Given the description of an element on the screen output the (x, y) to click on. 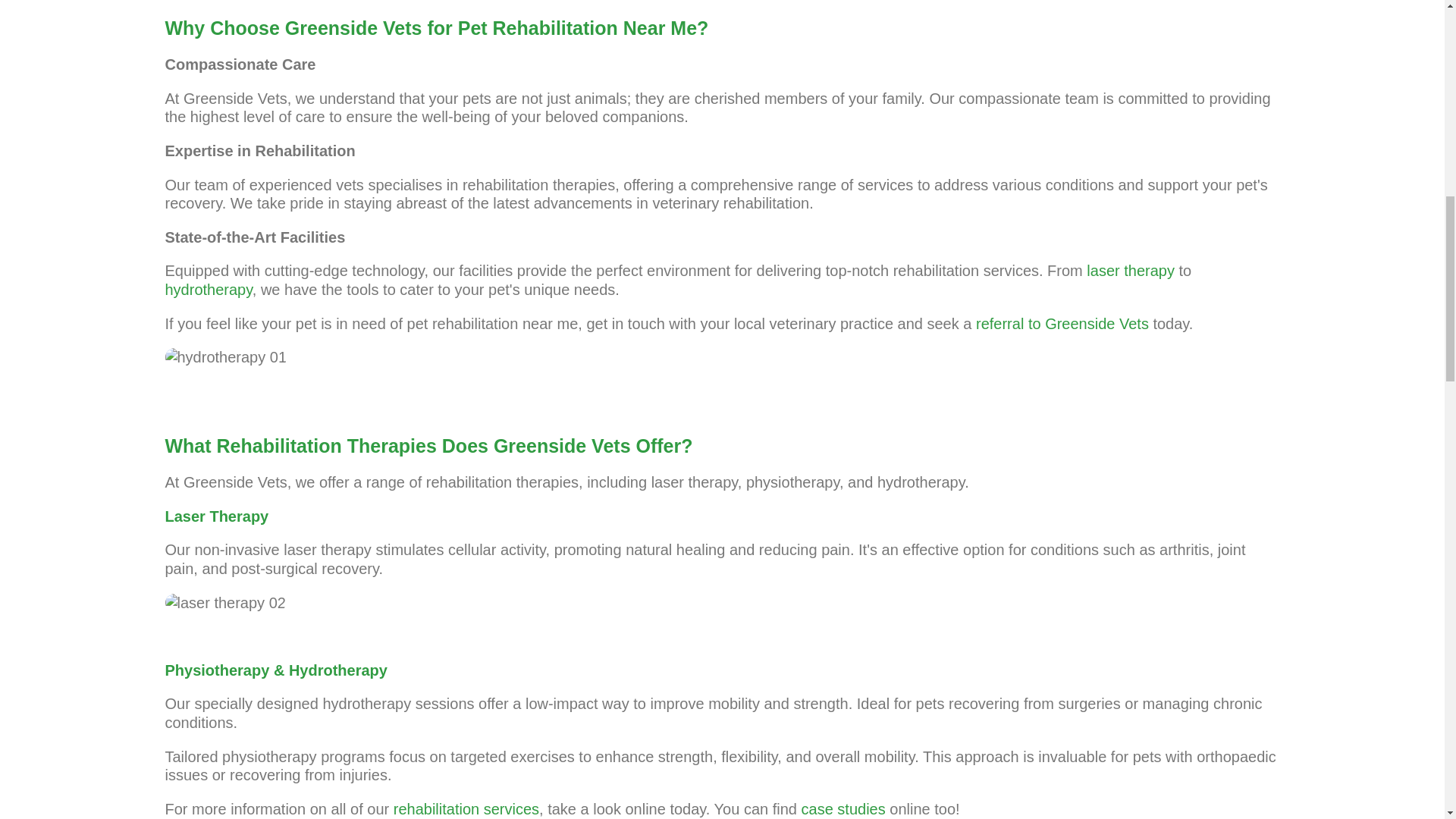
Laser Therapy (217, 515)
laser therapy (1130, 270)
referral to Greenside Vets (1061, 323)
hydrotherapy (208, 289)
